Given the description of an element on the screen output the (x, y) to click on. 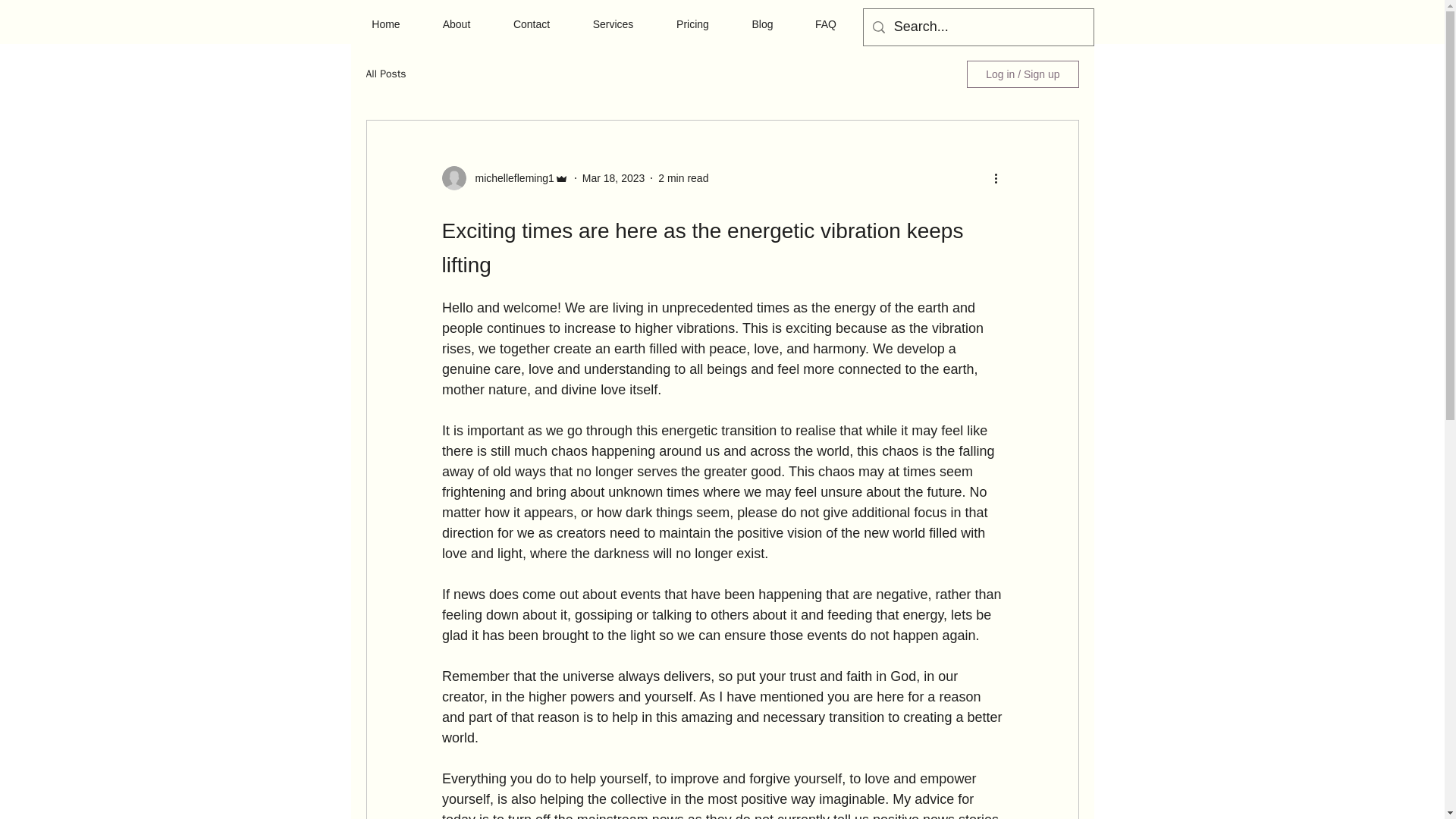
About (457, 23)
Mar 18, 2023 (613, 177)
2 min read (682, 177)
Home (385, 23)
Blog (762, 23)
michellefleming1 (509, 177)
Services (613, 23)
FAQ (825, 23)
All Posts (385, 74)
Pricing (692, 23)
